Given the description of an element on the screen output the (x, y) to click on. 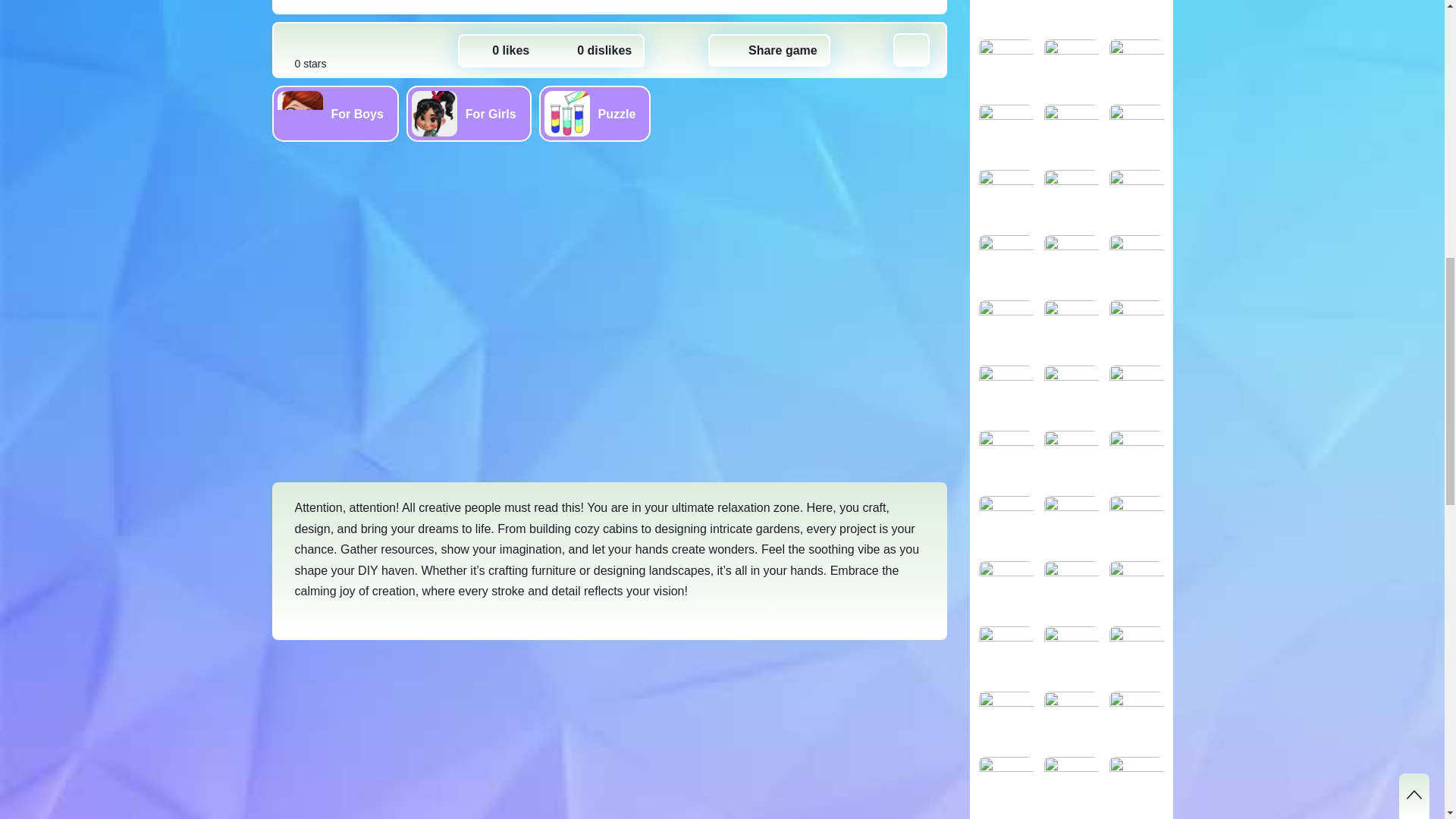
Puzzle (594, 113)
0 (593, 51)
Share game (768, 50)
For Boys (333, 113)
0 (500, 51)
For Girls (468, 113)
